Given the description of an element on the screen output the (x, y) to click on. 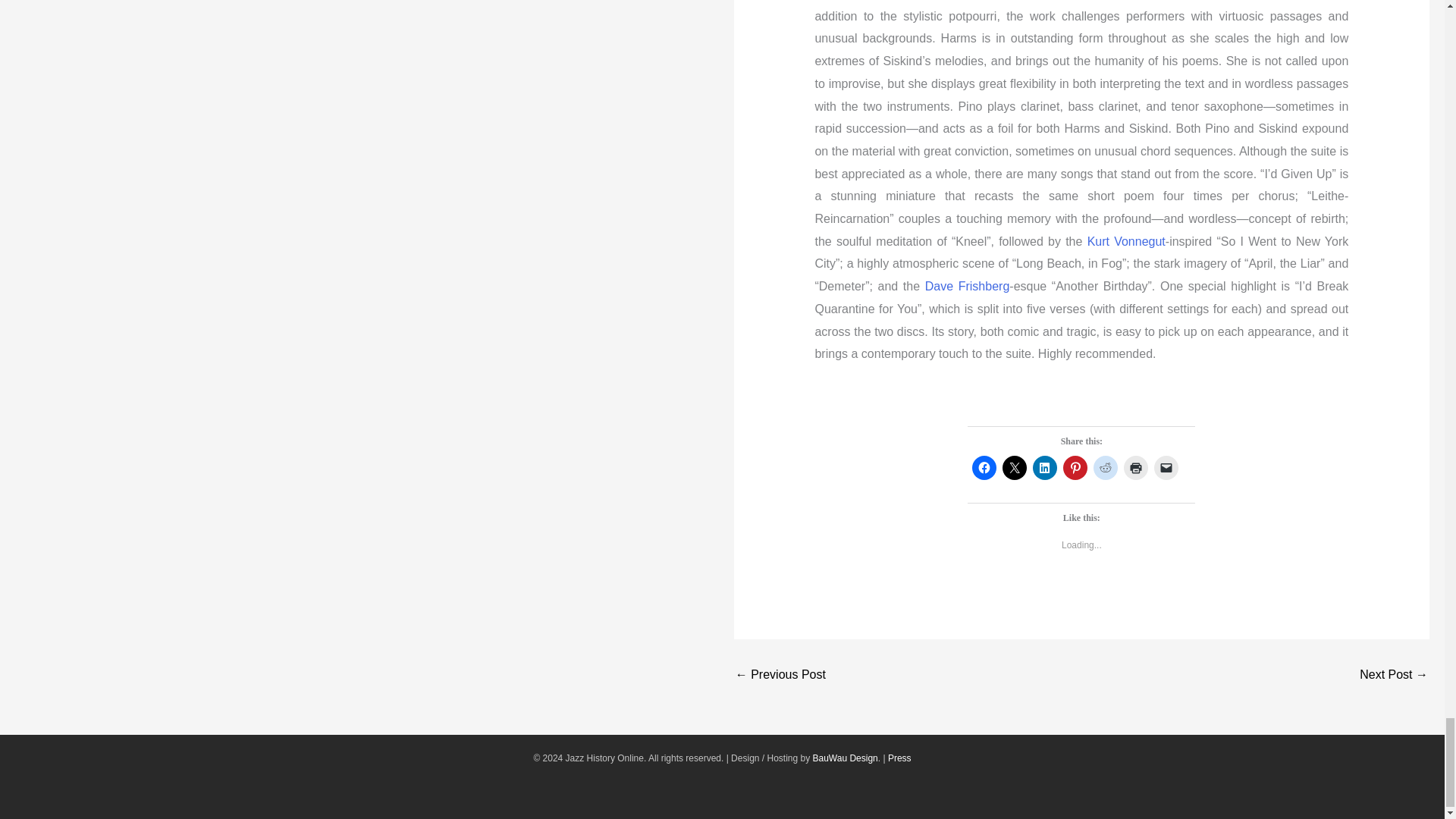
Click to share on LinkedIn (1044, 467)
Click to share on Facebook (983, 467)
Click to email a link to a friend (1165, 467)
Click to share on X (1014, 467)
Click to print (1136, 467)
Click to share on Reddit (1105, 467)
Click to share on Pinterest (1074, 467)
